Given the description of an element on the screen output the (x, y) to click on. 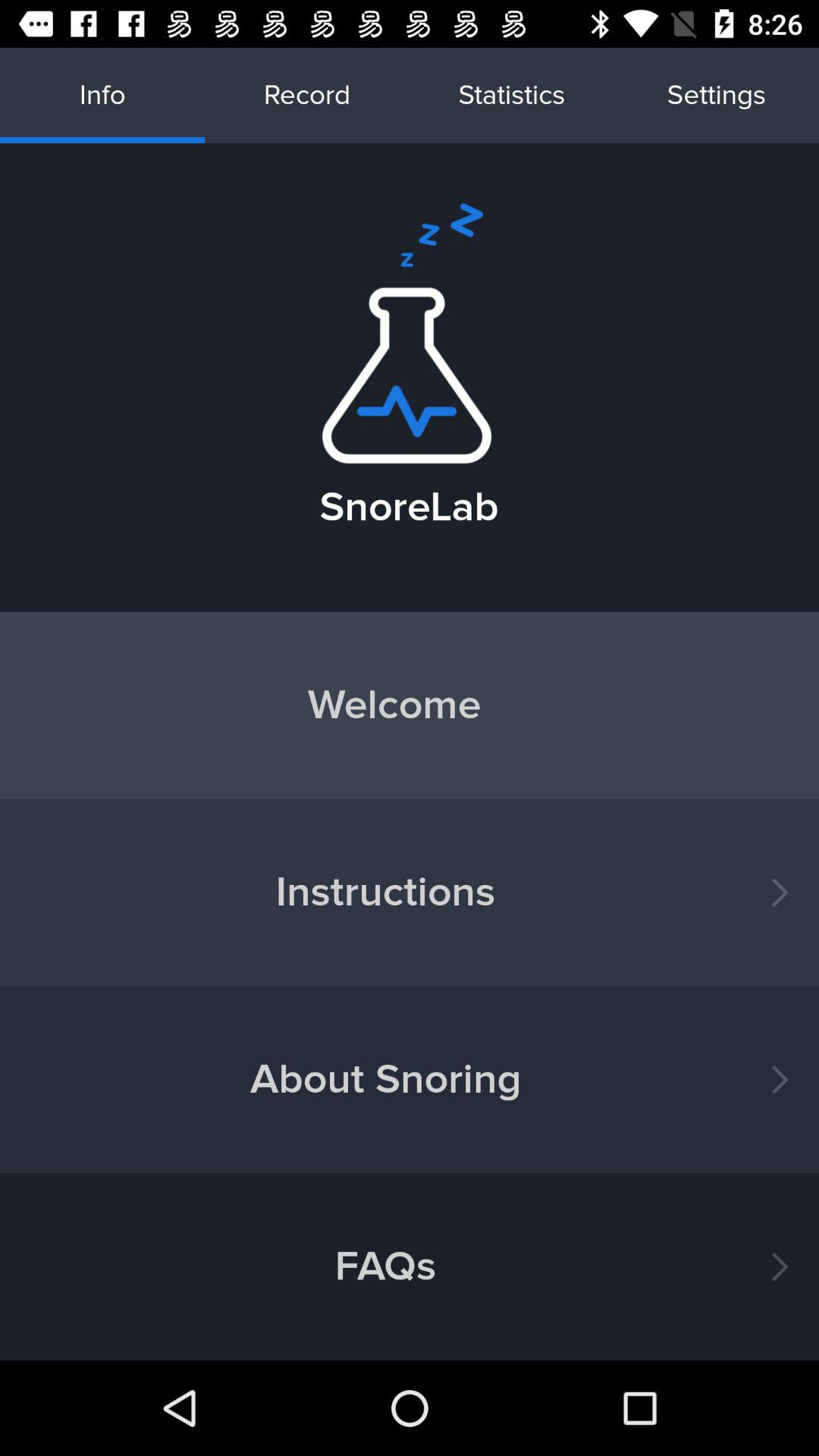
press the icon above instructions (409, 705)
